Given the description of an element on the screen output the (x, y) to click on. 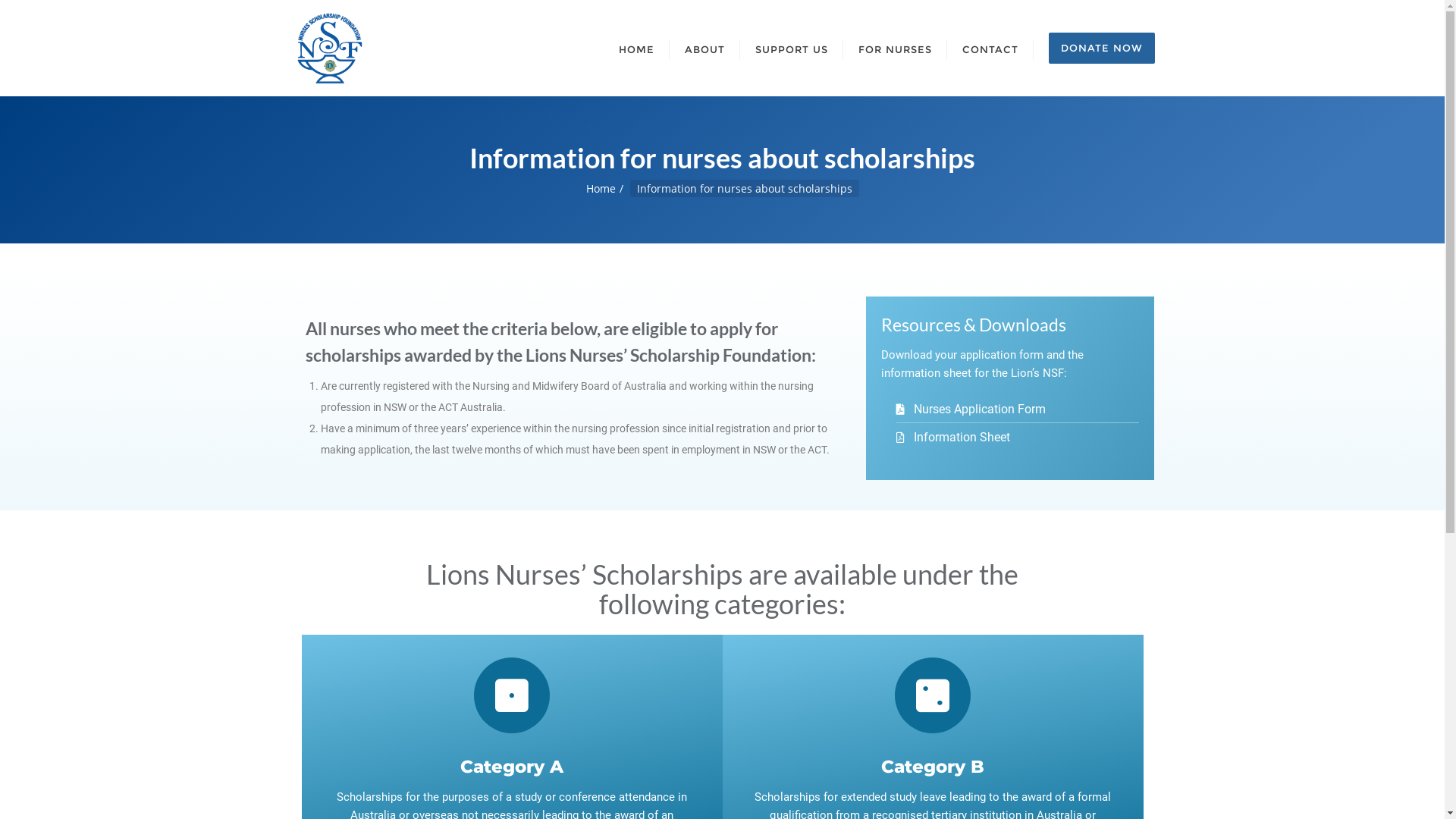
FOR NURSES Element type: text (895, 47)
Information Sheet Element type: text (1017, 437)
SUPPORT US Element type: text (791, 47)
ABOUT Element type: text (703, 47)
DONATE NOW Element type: text (1101, 47)
HOME Element type: text (636, 47)
CONTACT Element type: text (989, 47)
Home Element type: text (600, 188)
Nurses Application Form Element type: text (1017, 409)
